Given the description of an element on the screen output the (x, y) to click on. 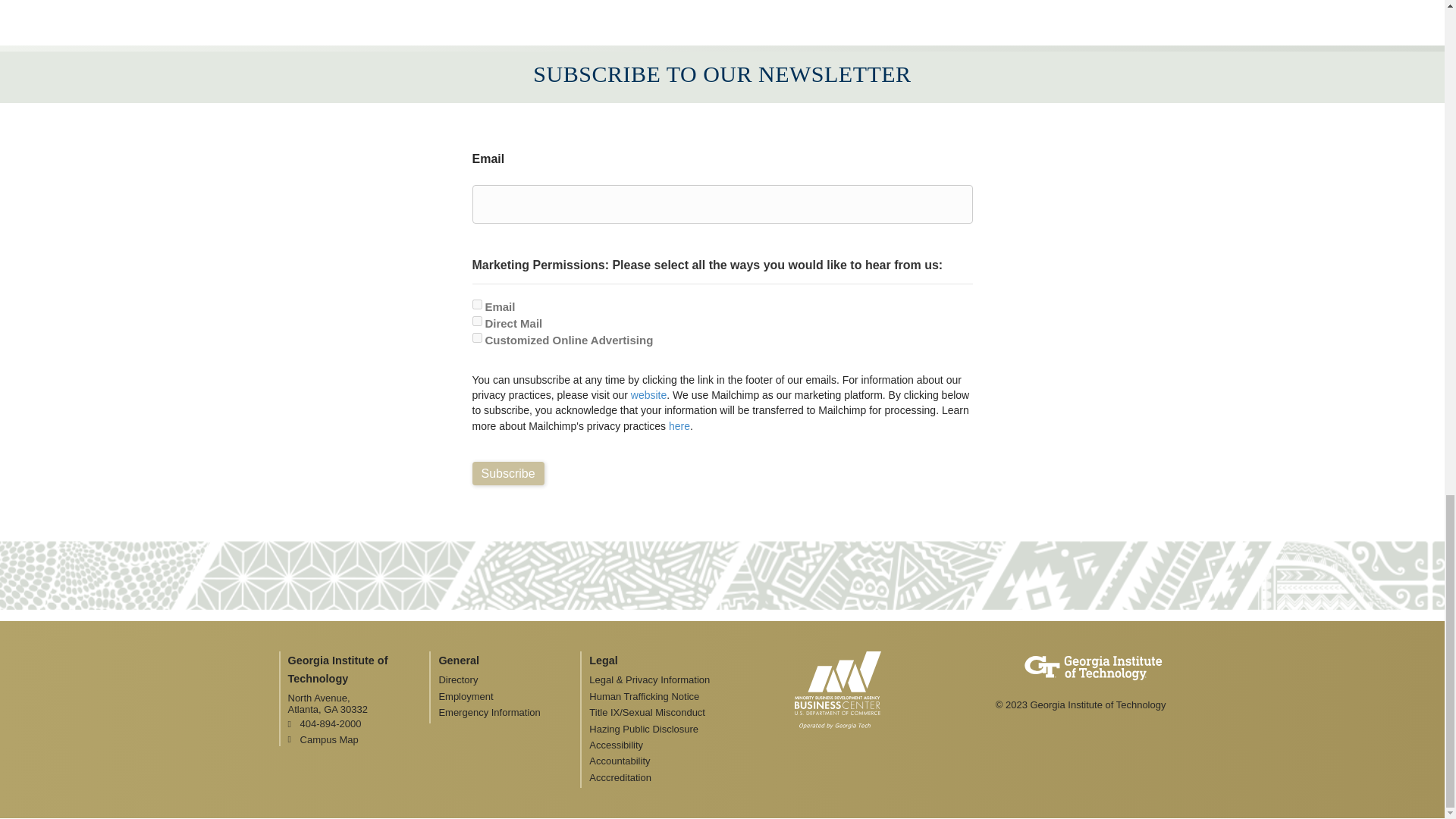
Directory (508, 679)
Email (476, 304)
here (679, 426)
Employment (508, 696)
Campus Map (358, 739)
404-894-2000 (358, 723)
Subscribe (507, 473)
Subscribe (507, 473)
Direct Mail (476, 320)
Customized Online Advertising (476, 337)
